Given the description of an element on the screen output the (x, y) to click on. 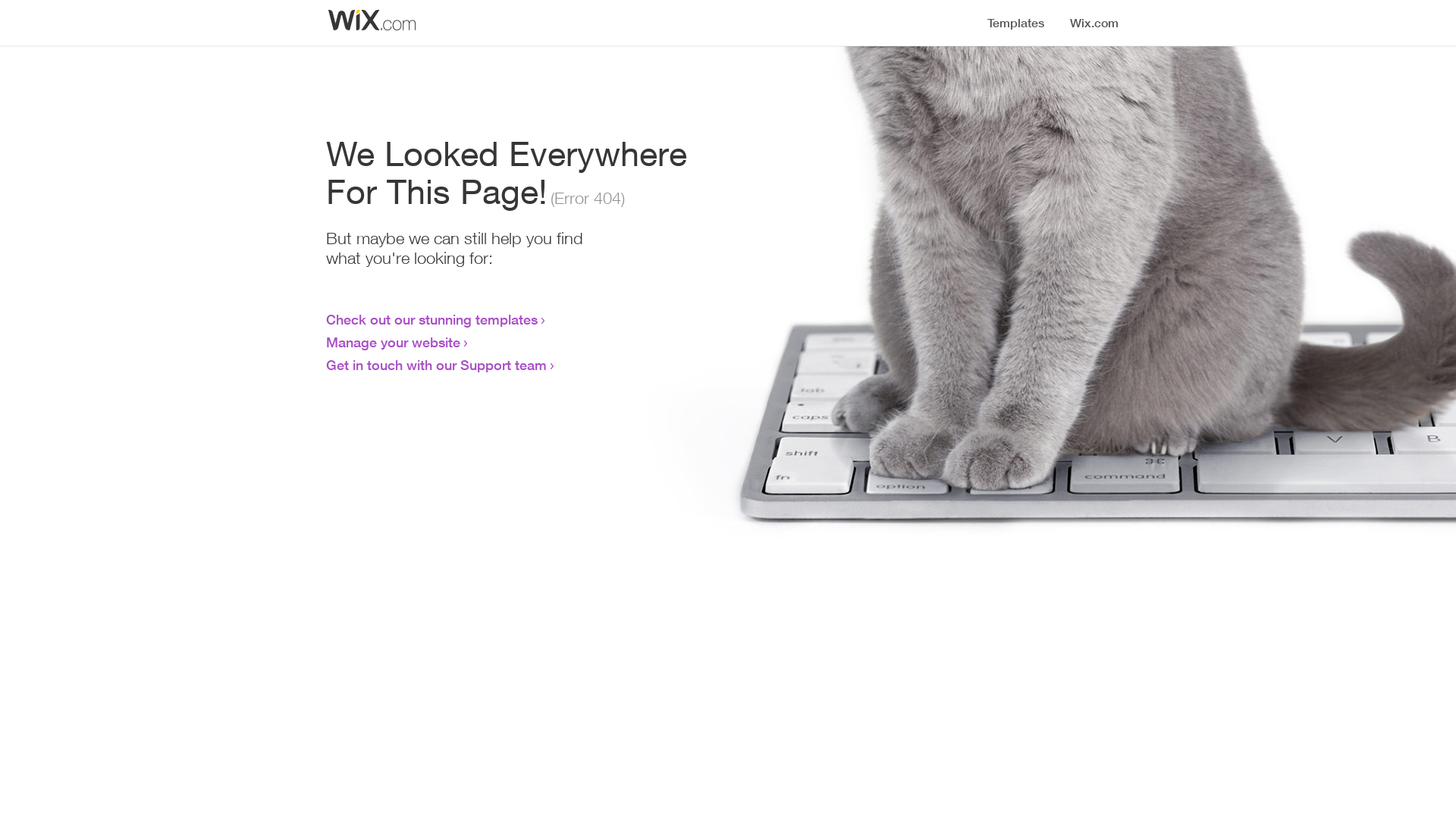
Get in touch with our Support team Element type: text (436, 364)
Check out our stunning templates Element type: text (431, 318)
Manage your website Element type: text (393, 341)
